Given the description of an element on the screen output the (x, y) to click on. 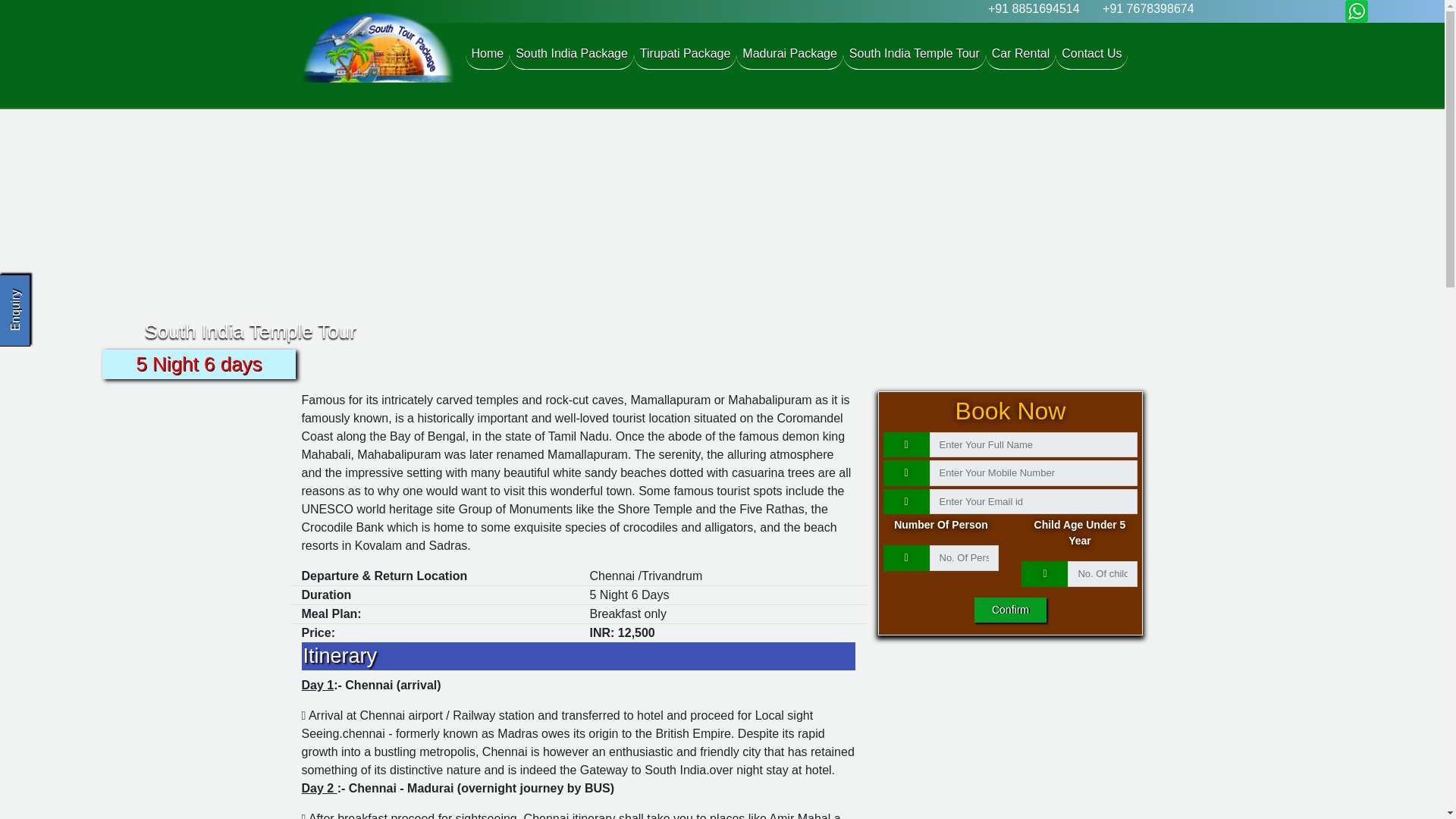
Contact Us (1090, 53)
Madurai Package (789, 53)
Home (488, 53)
South India Temple Tour (914, 53)
Tirupati Package (684, 53)
Confirm (1010, 609)
Car Rental (1020, 53)
South India Package (571, 53)
Please Enter Your 10 Digit Mobile Number (1034, 473)
